Given the description of an element on the screen output the (x, y) to click on. 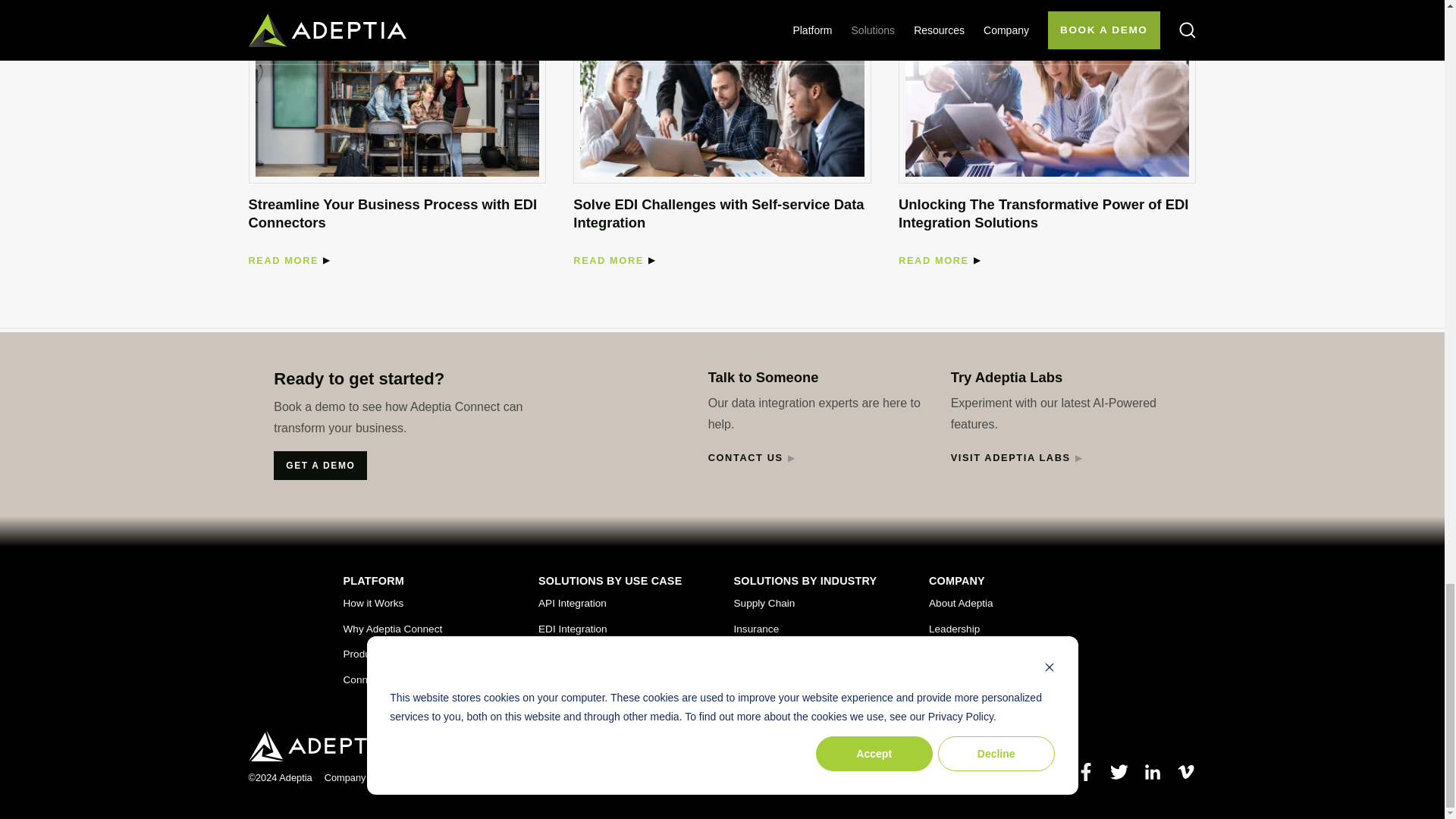
Streamline Your Business Process with EDI Connectors (396, 96)
Solve EDI Challenges with Self-service Data Integration (721, 96)
Solve EDI Challenges with Self-service Data Integration (608, 260)
Streamline Your Business Process with EDI Connectors (392, 213)
Solve EDI Challenges with Self-service Data Integration (718, 213)
Streamline Your Business Process with EDI Connectors (283, 260)
